Given the description of an element on the screen output the (x, y) to click on. 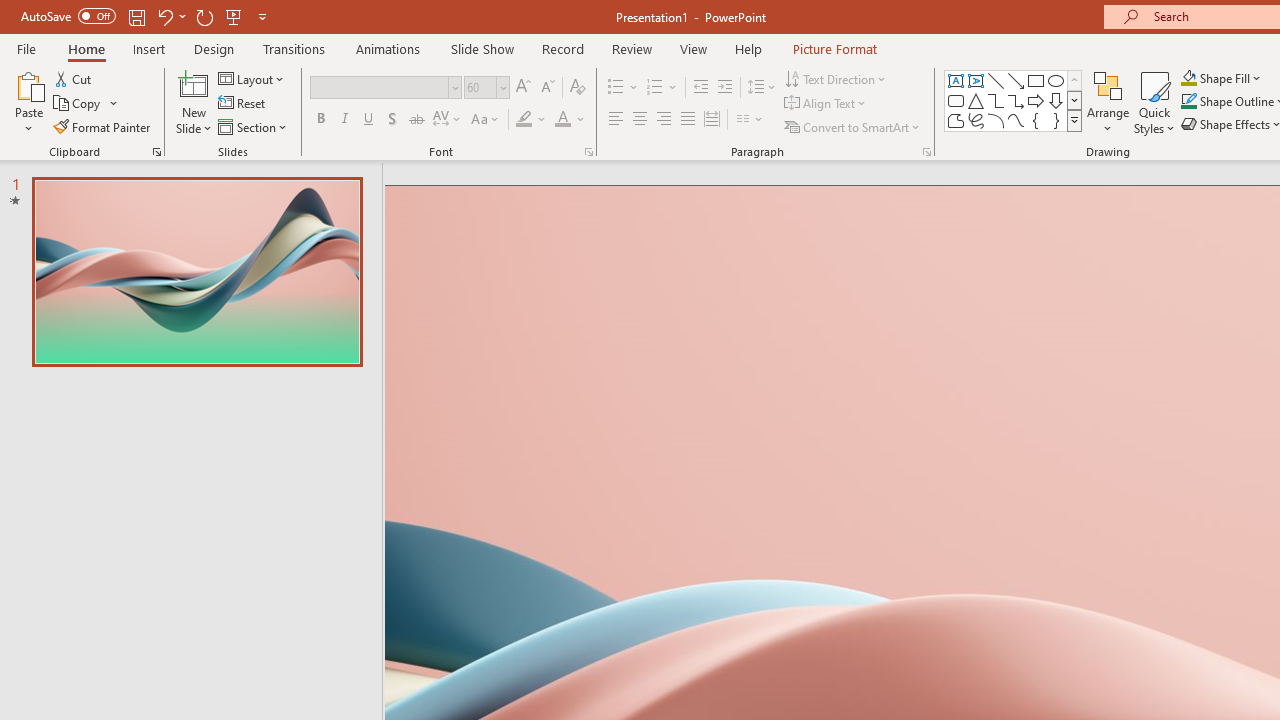
Freeform: Shape (955, 120)
Bullets (616, 87)
Review (631, 48)
Decrease Font Size (547, 87)
Oval (1055, 80)
Arc (995, 120)
Align Text (826, 103)
Arrow: Down (1055, 100)
Freeform: Scribble (975, 120)
Slide Show (481, 48)
From Beginning (234, 15)
Cut (73, 78)
Rectangle: Rounded Corners (955, 100)
Center (639, 119)
Connector: Elbow (995, 100)
